Given the description of an element on the screen output the (x, y) to click on. 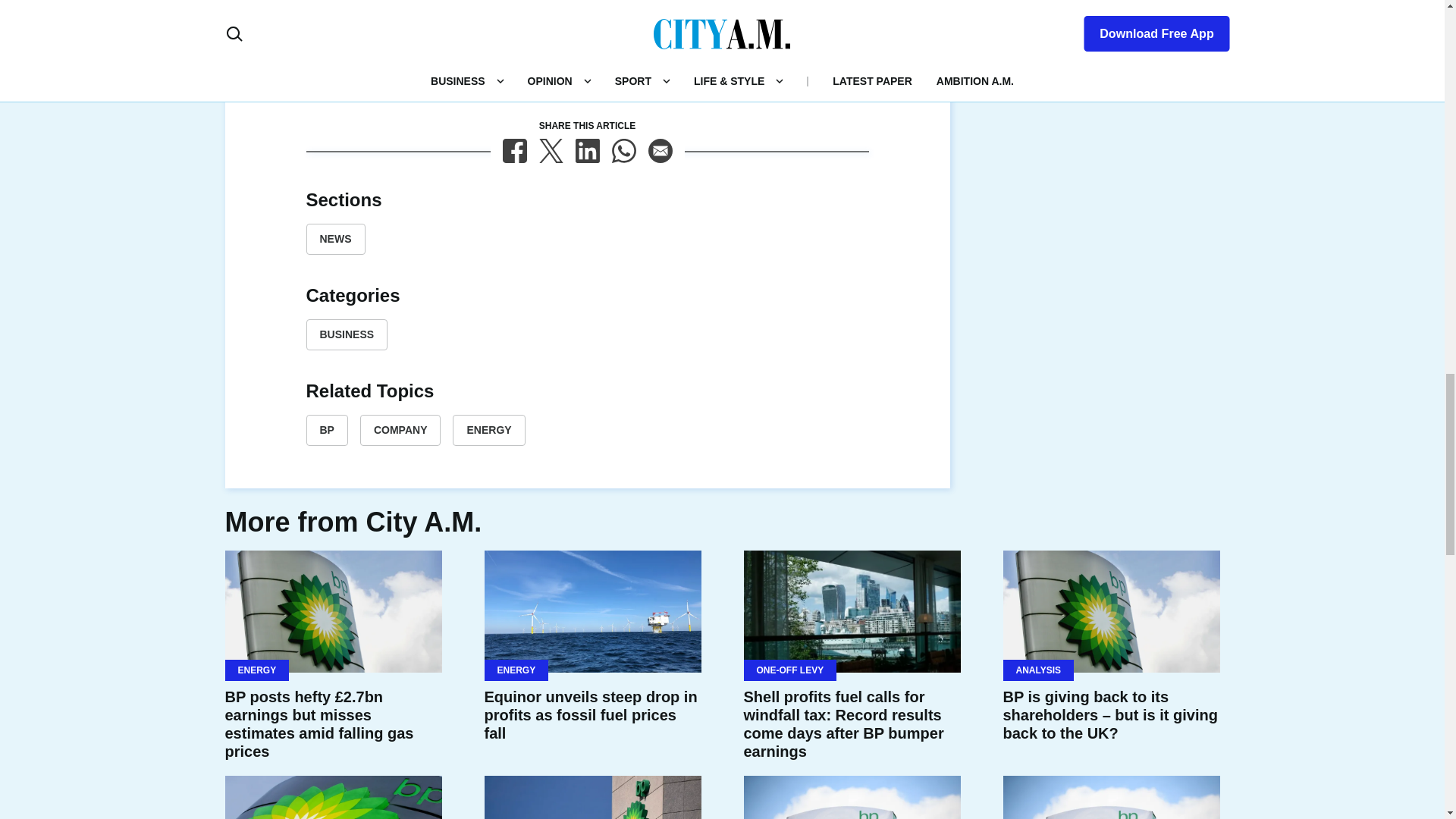
X (550, 150)
LinkedIn (586, 150)
WhatsApp (622, 150)
Email (659, 150)
Facebook (513, 150)
